Given the description of an element on the screen output the (x, y) to click on. 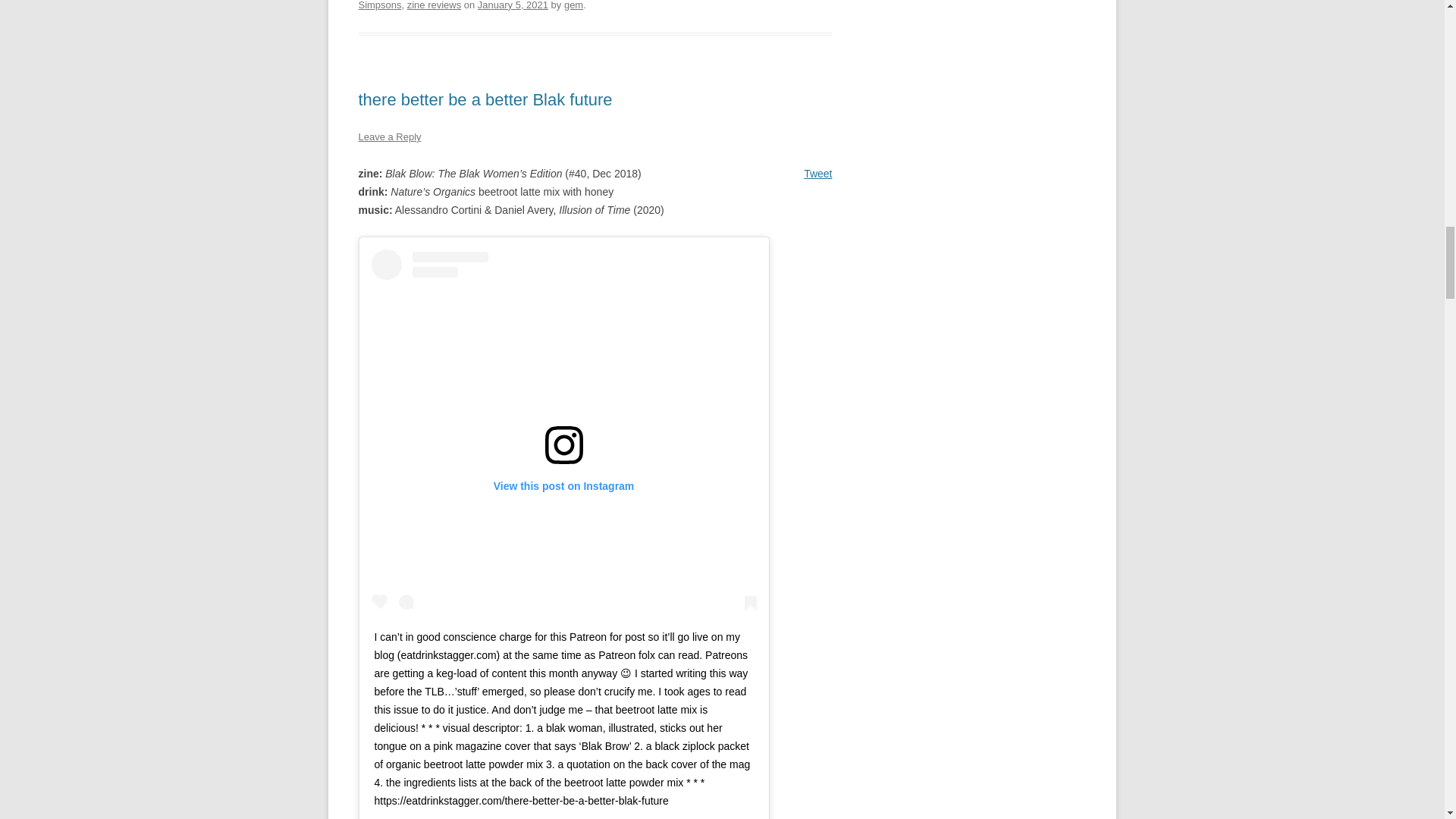
Leave a Reply (389, 136)
zine reviews (434, 5)
January 5, 2021 (512, 5)
View all posts by gem (573, 5)
17:05 (512, 5)
there better be a better Blak future (484, 99)
The Simpsons (591, 5)
gem (573, 5)
